Given the description of an element on the screen output the (x, y) to click on. 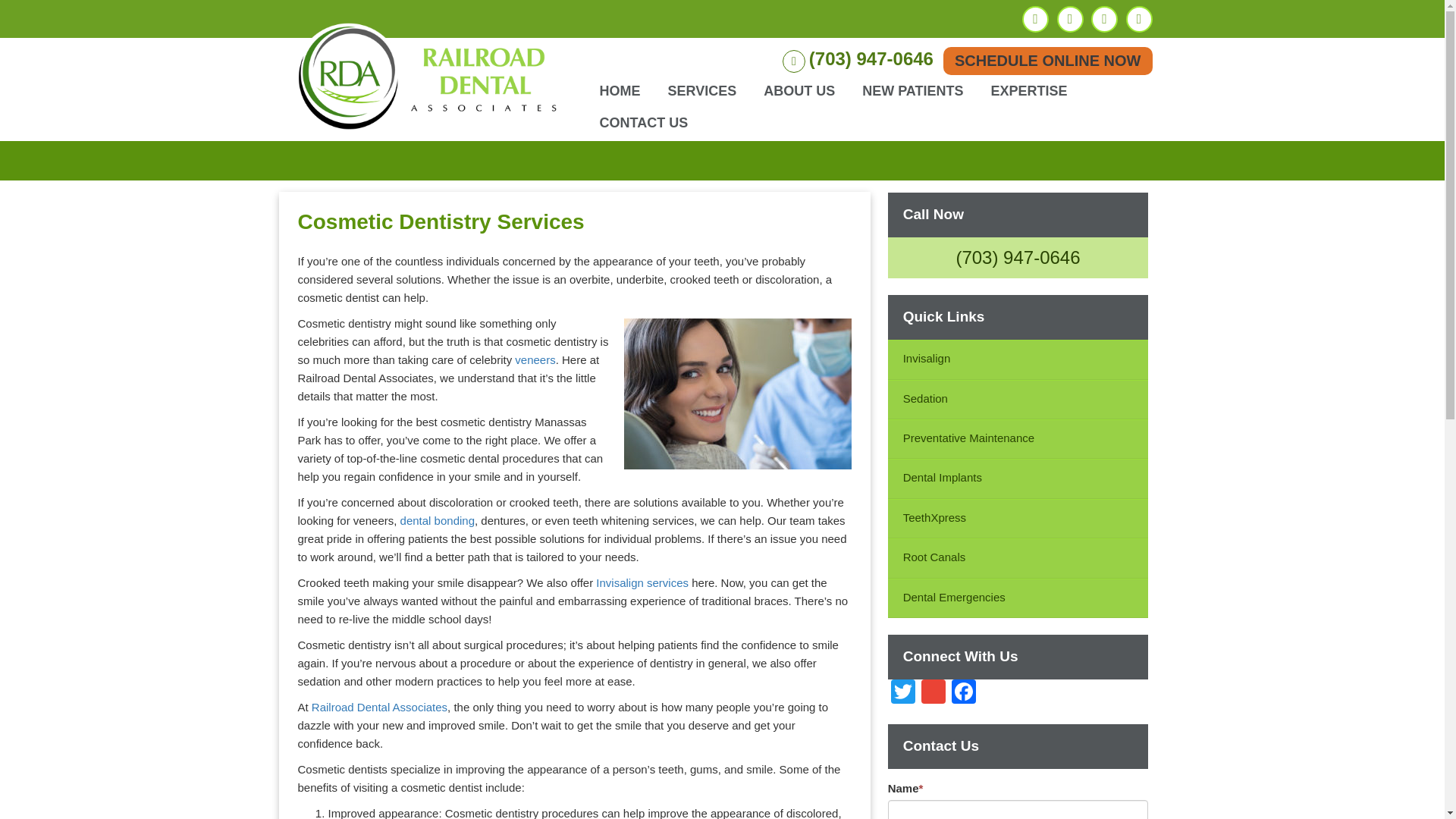
Facebook (963, 693)
ABOUT US (798, 91)
SCHEDULE ONLINE NOW (1048, 60)
HOME (619, 91)
SERVICES (702, 91)
Gmail (933, 693)
Twitter (903, 693)
NEW PATIENTS (912, 91)
